Given the description of an element on the screen output the (x, y) to click on. 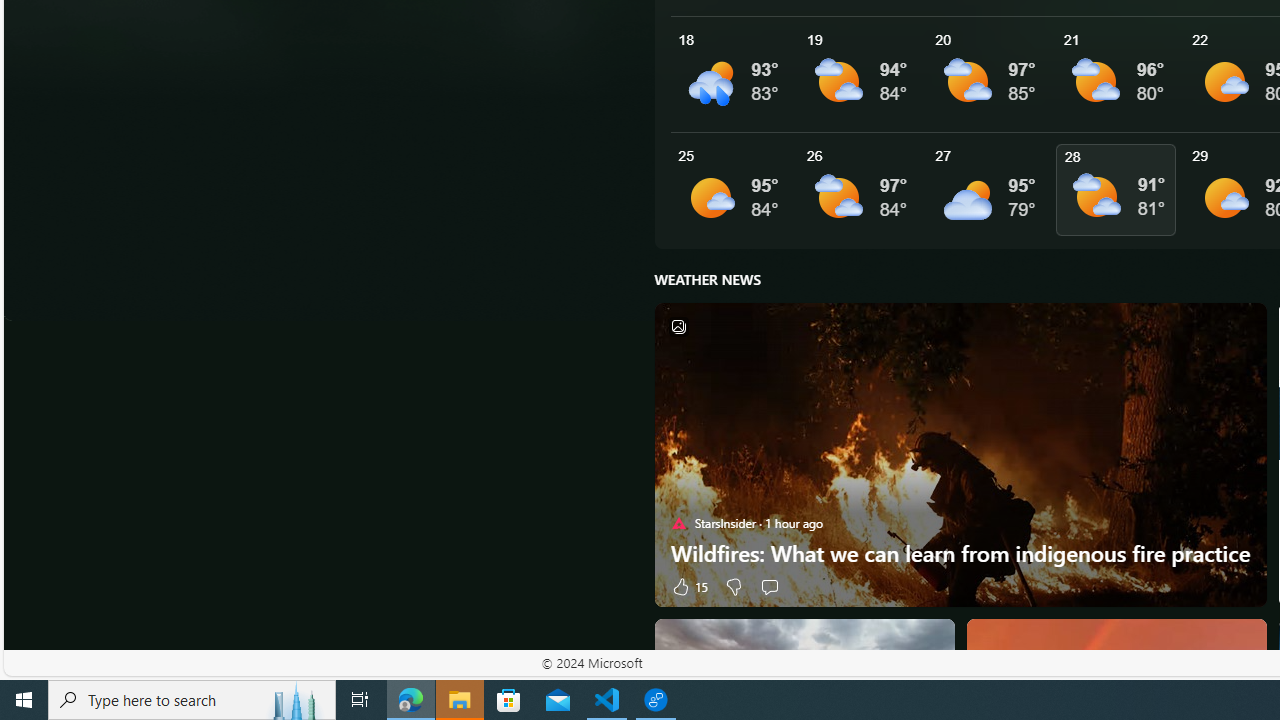
Wildfires: What we can learn from indigenous fire practice (959, 553)
StarsInsider (678, 522)
See More Details (1120, 190)
